Given the description of an element on the screen output the (x, y) to click on. 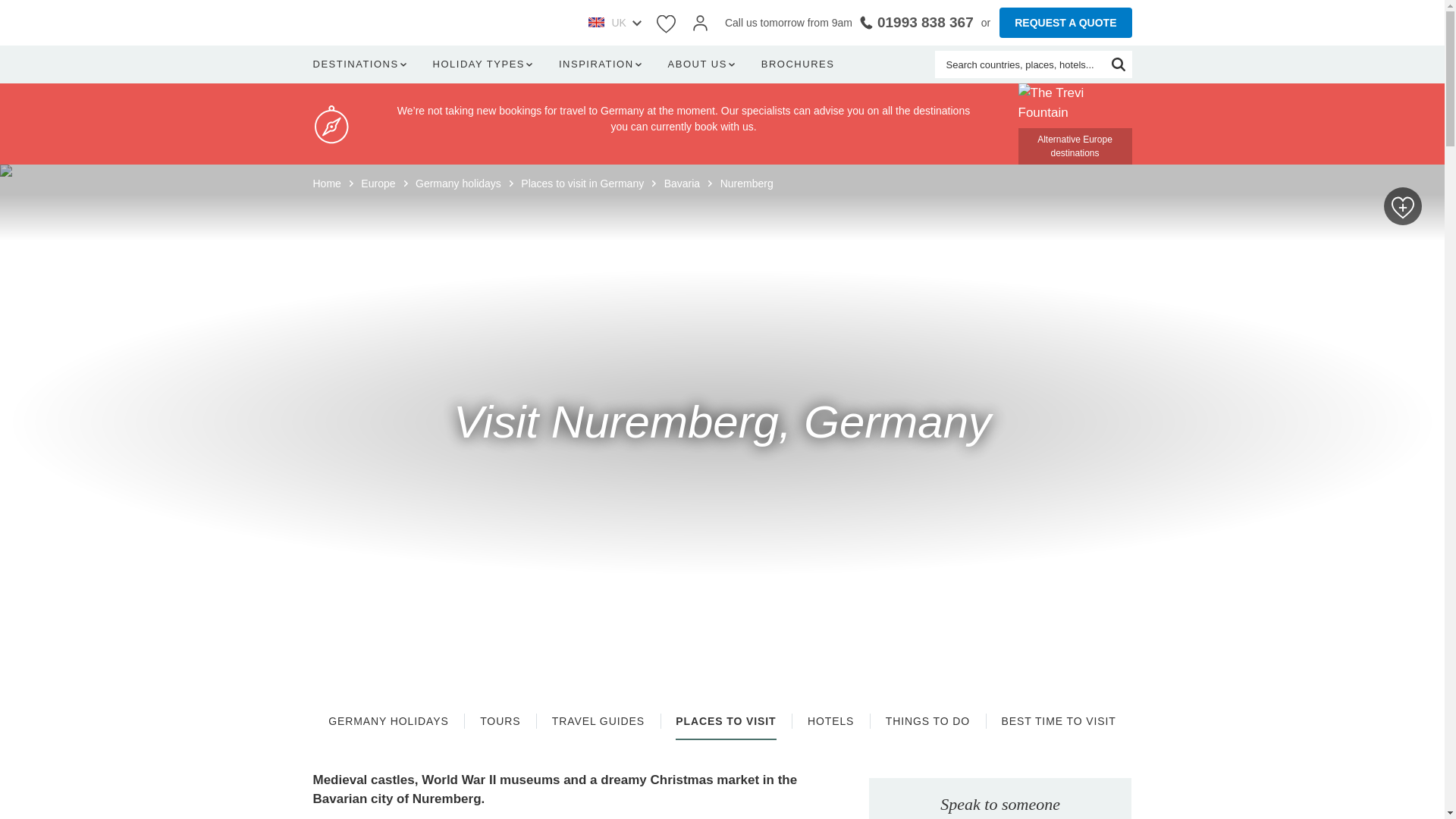
Add to Favourites (1403, 206)
Alternative Europe destinations (1074, 123)
UK (614, 22)
REQUEST A QUOTE (1064, 22)
DESTINATIONS (363, 64)
